Given the description of an element on the screen output the (x, y) to click on. 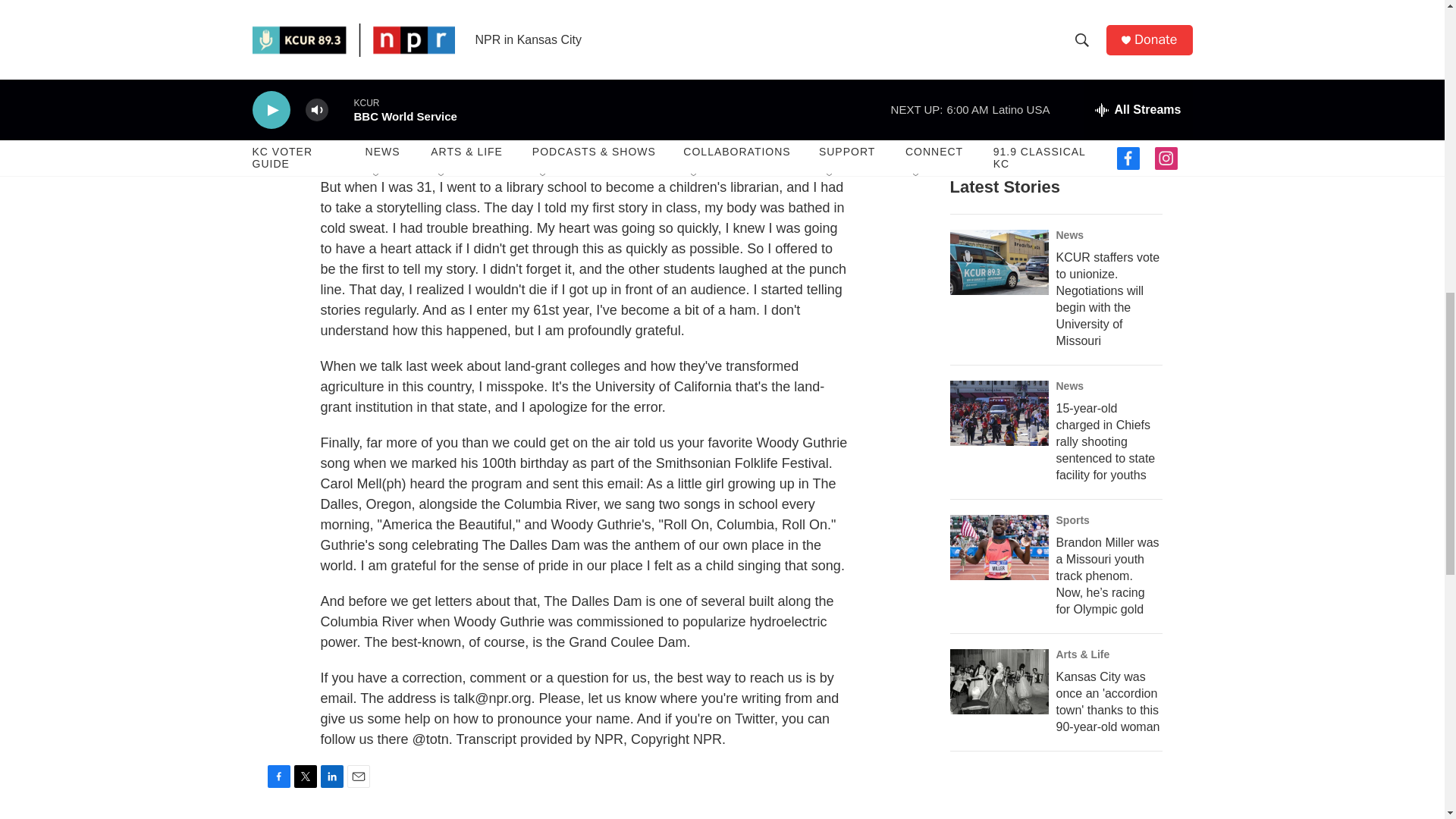
3rd party ad content (1062, 800)
